Given the description of an element on the screen output the (x, y) to click on. 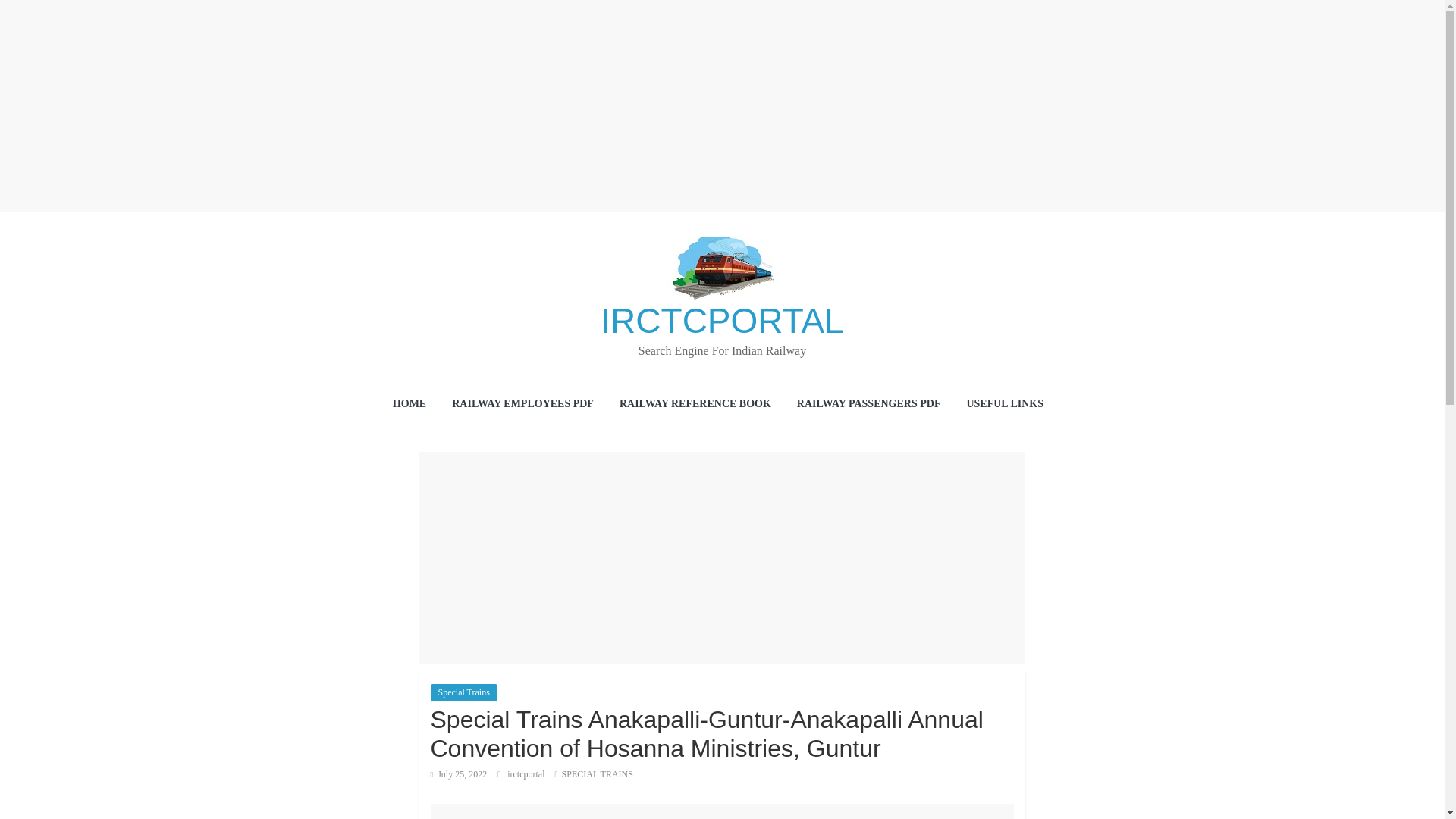
12:43 pm (458, 774)
RAILWAY REFERENCE BOOK (695, 404)
irctcportal (526, 774)
SPECIAL TRAINS (597, 774)
RAILWAY EMPLOYEES PDF (522, 404)
USEFUL LINKS (1008, 404)
HOME (409, 404)
Advertisement (722, 811)
RAILWAY PASSENGERS PDF (868, 404)
